Given the description of an element on the screen output the (x, y) to click on. 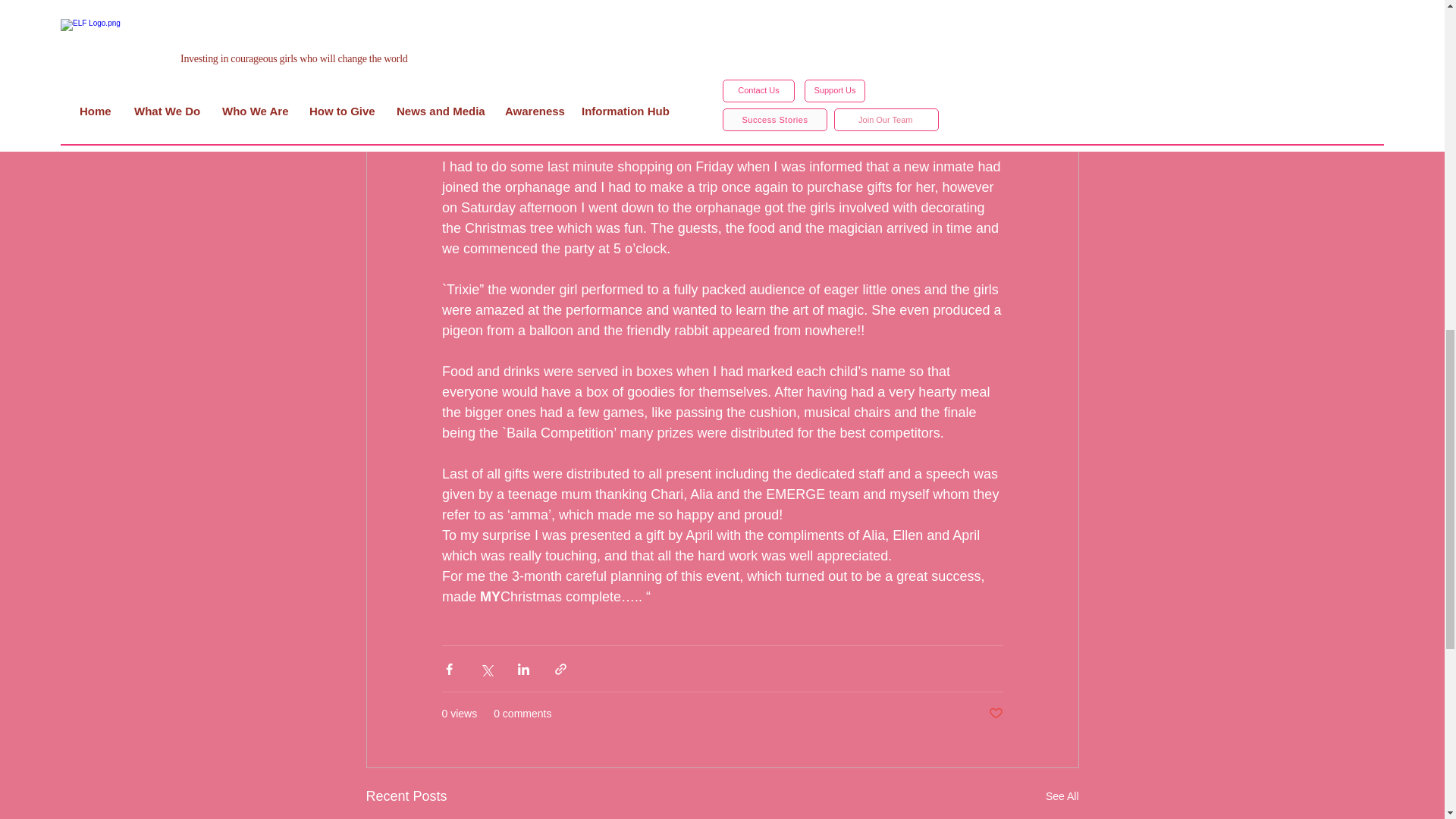
Post not marked as liked (995, 713)
See All (1061, 796)
